Given the description of an element on the screen output the (x, y) to click on. 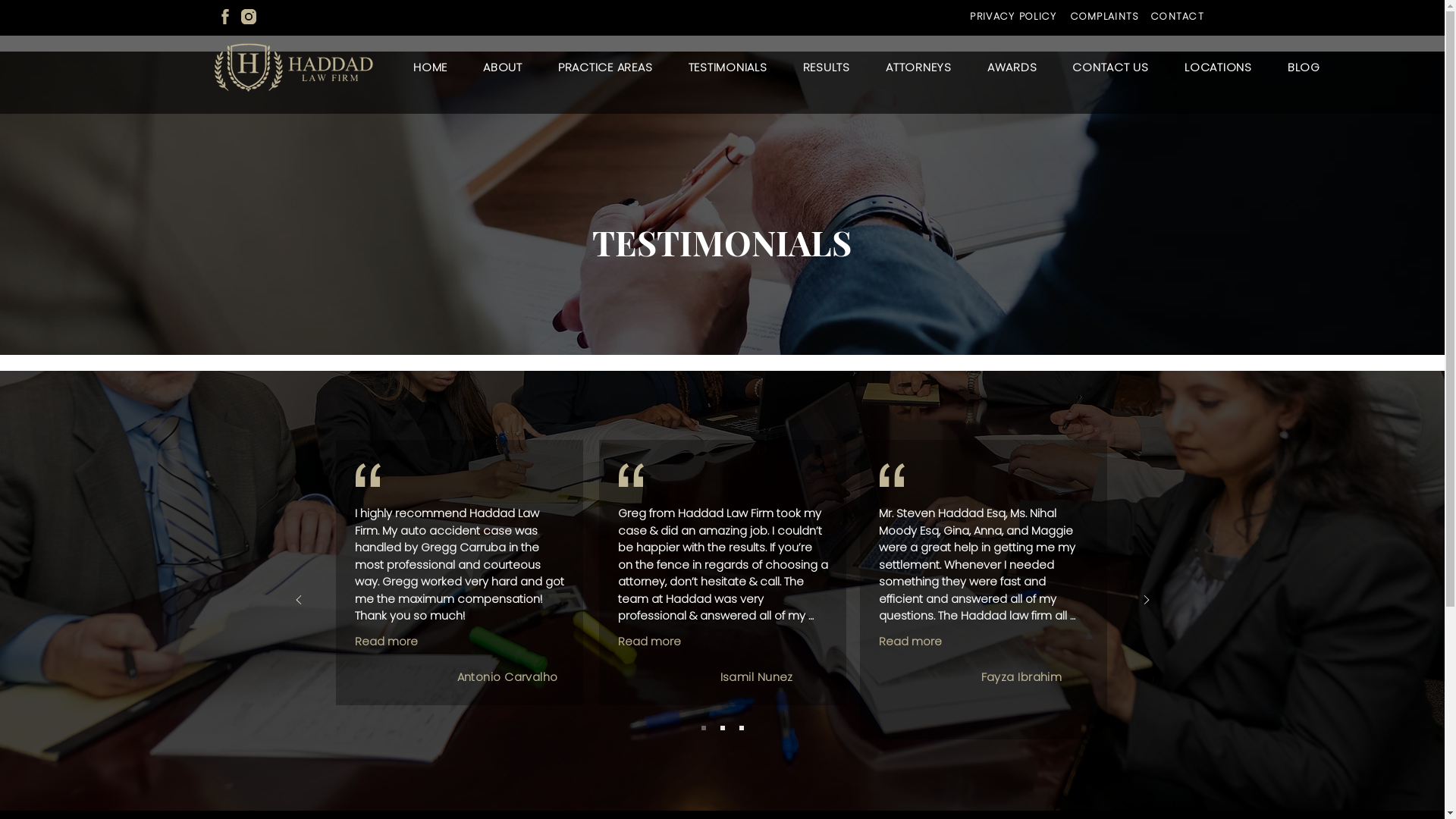
HOME Element type: text (430, 66)
ABOUT Element type: text (502, 66)
Antonio Carvalho Element type: text (506, 676)
LOCATIONS Element type: text (1217, 66)
TESTIMONIALS Element type: text (727, 66)
ATTORNEYS Element type: text (918, 66)
Read more Element type: text (648, 640)
Read more Element type: text (909, 640)
AWARDS Element type: text (1011, 66)
RESULTS Element type: text (825, 66)
PRIVACY POLICY Element type: text (1015, 16)
CONTACT US Element type: text (1110, 66)
COMPLAINTS Element type: text (1106, 16)
Fayza Ibrahim Element type: text (1021, 676)
CONTACT Element type: text (1178, 16)
Read more Element type: text (385, 640)
Isamil Nunez Element type: text (756, 676)
BLOG Element type: text (1303, 66)
